Given the description of an element on the screen output the (x, y) to click on. 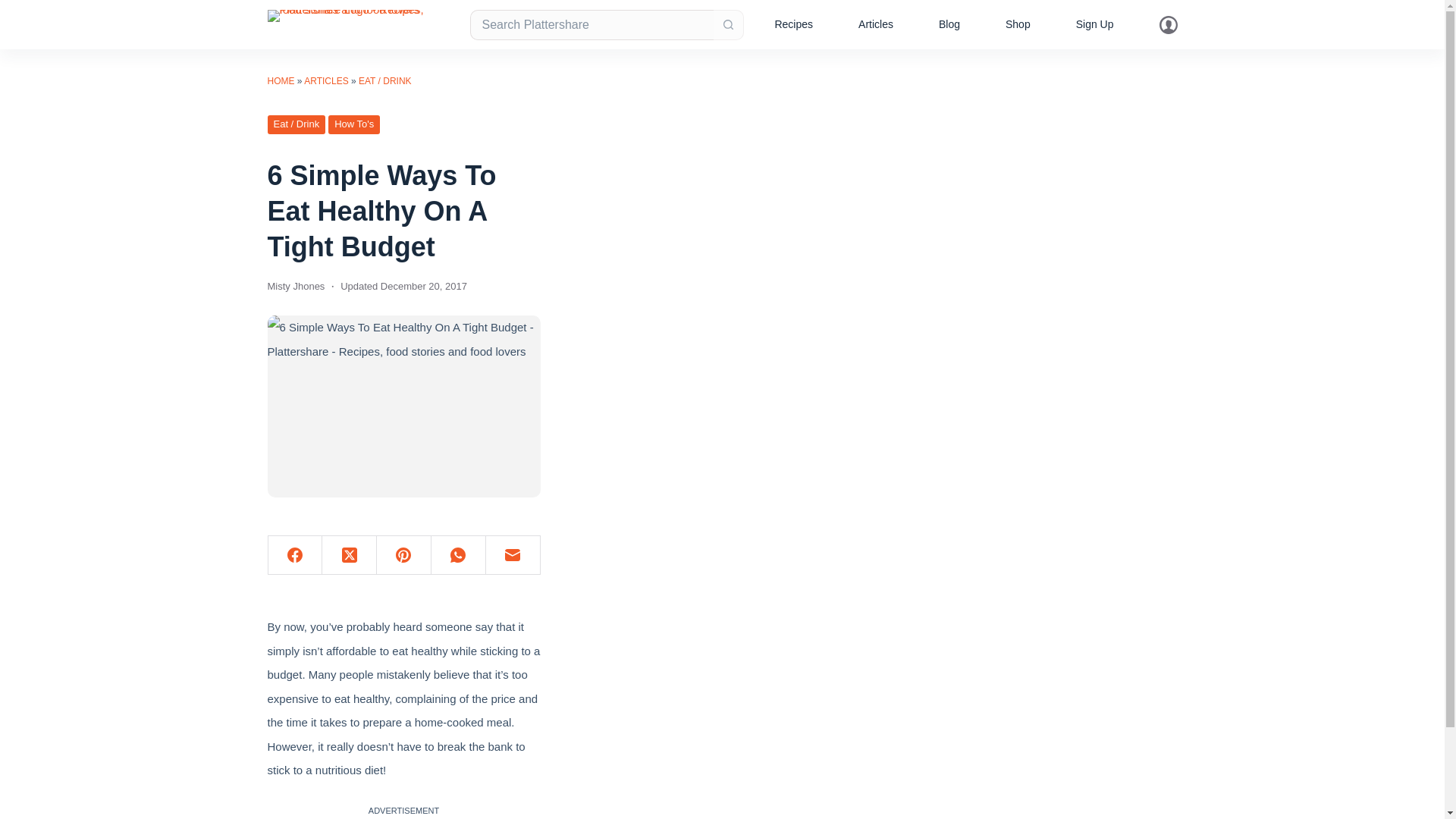
Search for... (592, 24)
Sign Up (1094, 24)
ARTICLES (325, 81)
Recipes (793, 24)
How To'S (354, 124)
Skip to content (15, 7)
Shop (1017, 24)
6 Simple Ways To Eat Healthy On A Tight Budget (403, 211)
Blog (948, 24)
